Given the description of an element on the screen output the (x, y) to click on. 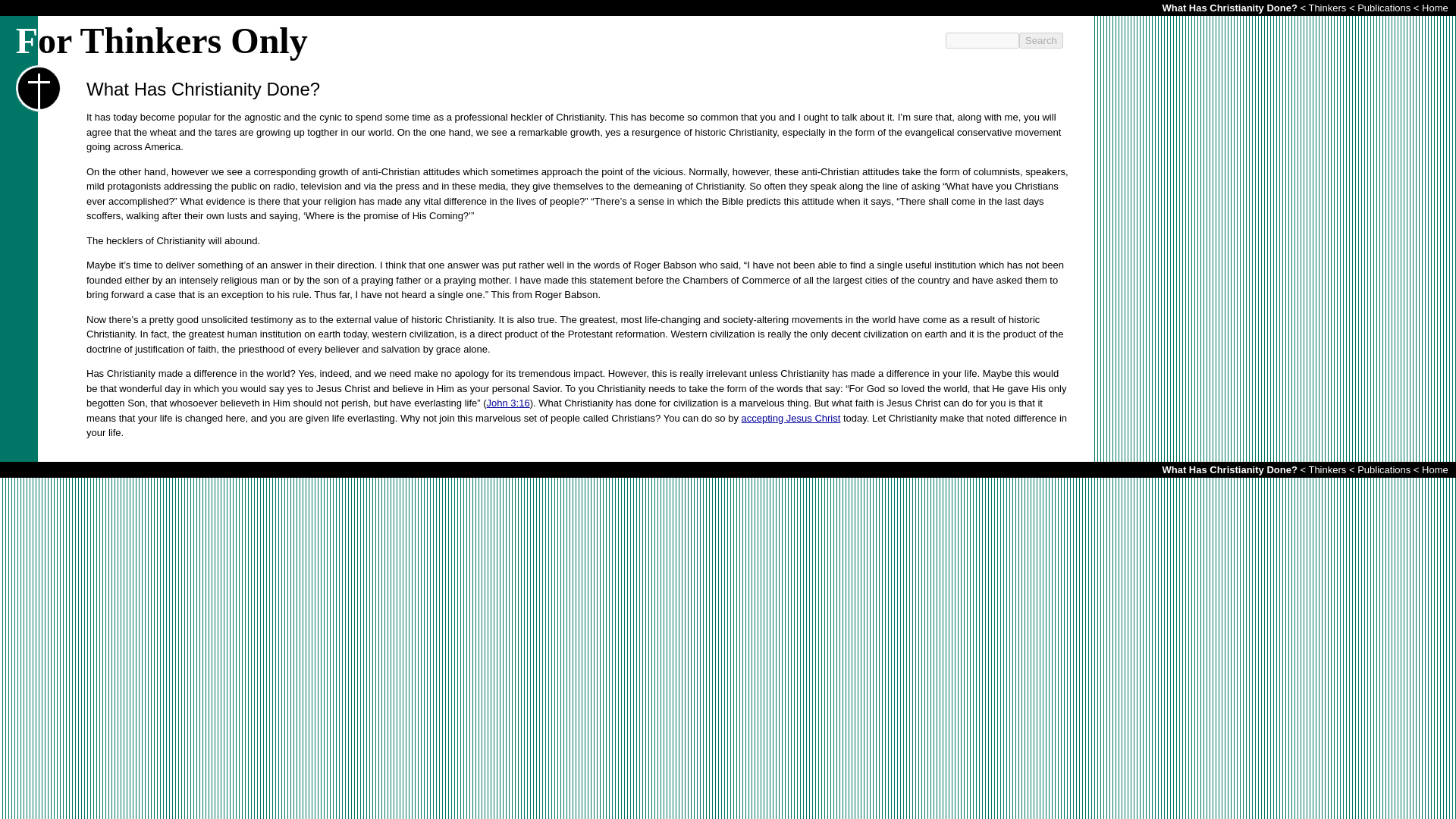
Thinkers (1326, 7)
Thinkers (1326, 469)
Home (1435, 469)
Search (1040, 40)
Publications (1383, 469)
Home (1435, 7)
accepting Jesus Christ (791, 418)
Publications (1383, 7)
John 3:16 (507, 402)
